Given the description of an element on the screen output the (x, y) to click on. 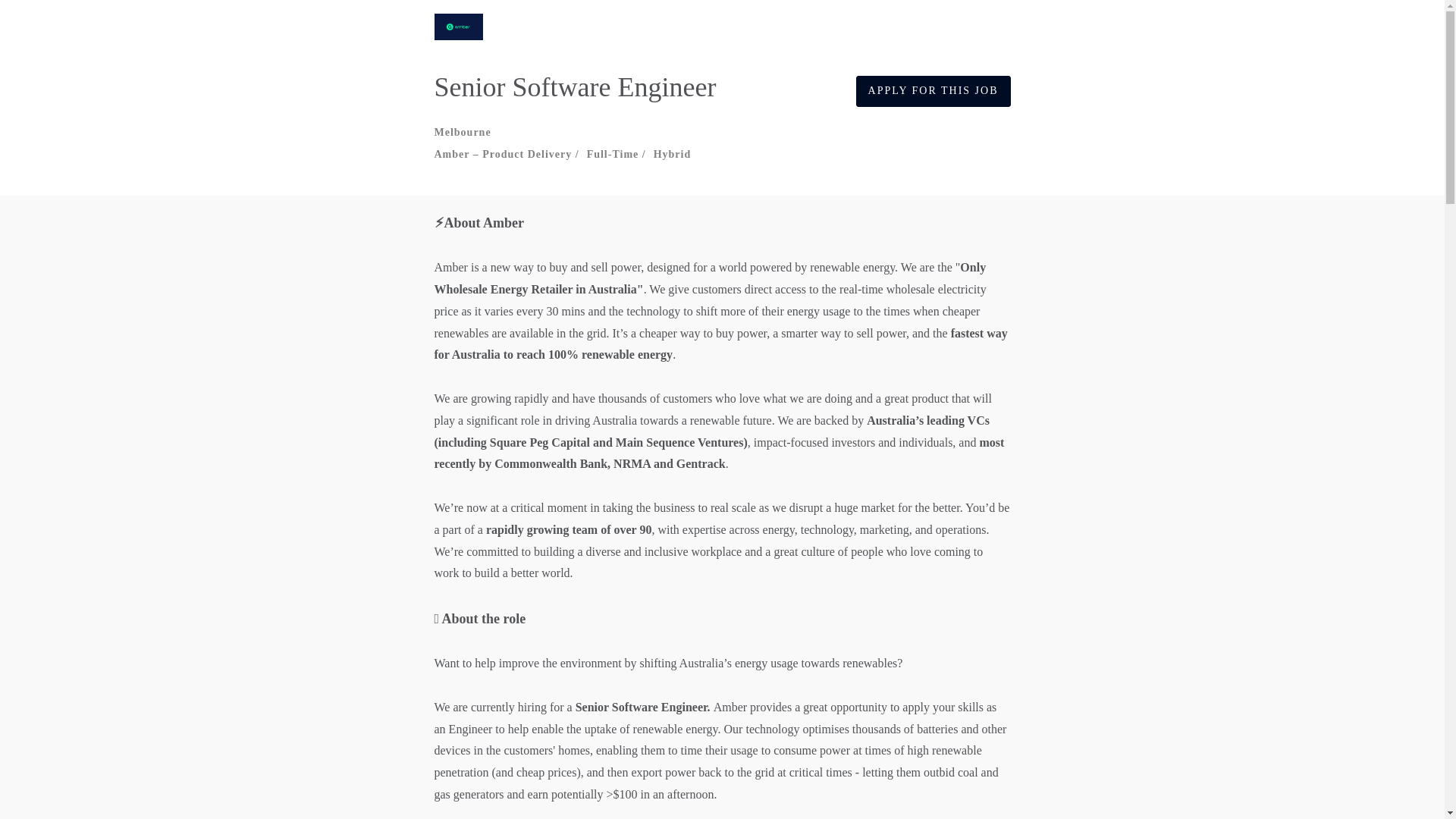
APPLY FOR THIS JOB (933, 91)
